Given the description of an element on the screen output the (x, y) to click on. 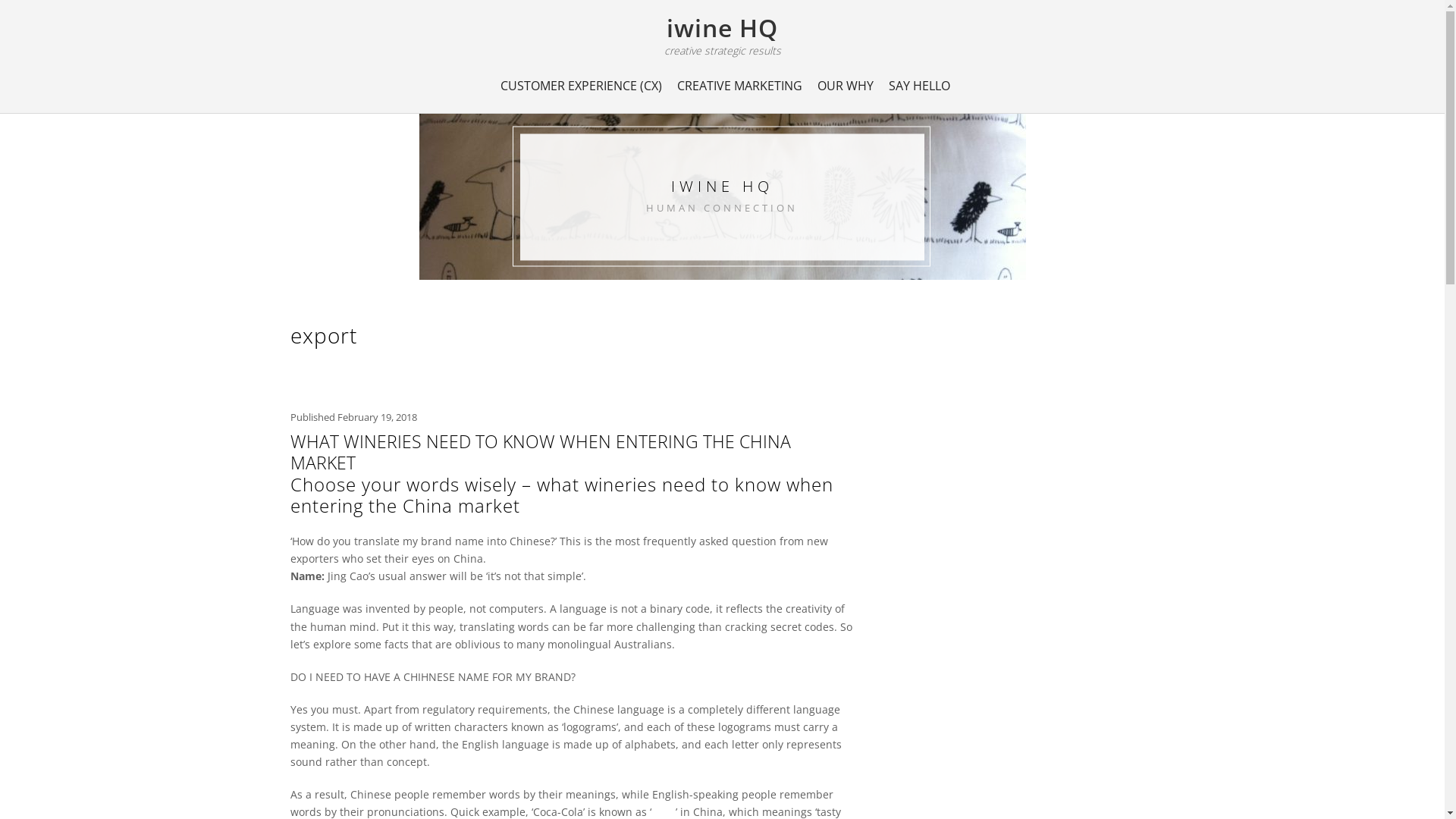
OUR WHY Element type: text (845, 85)
CREATIVE MARKETING Element type: text (739, 85)
iwine HQ Element type: text (722, 27)
WHAT WINERIES NEED TO KNOW WHEN ENTERING THE CHINA MARKET Element type: text (539, 451)
SAY HELLO Element type: text (919, 85)
CUSTOMER EXPERIENCE (CX) Element type: text (581, 85)
